Given the description of an element on the screen output the (x, y) to click on. 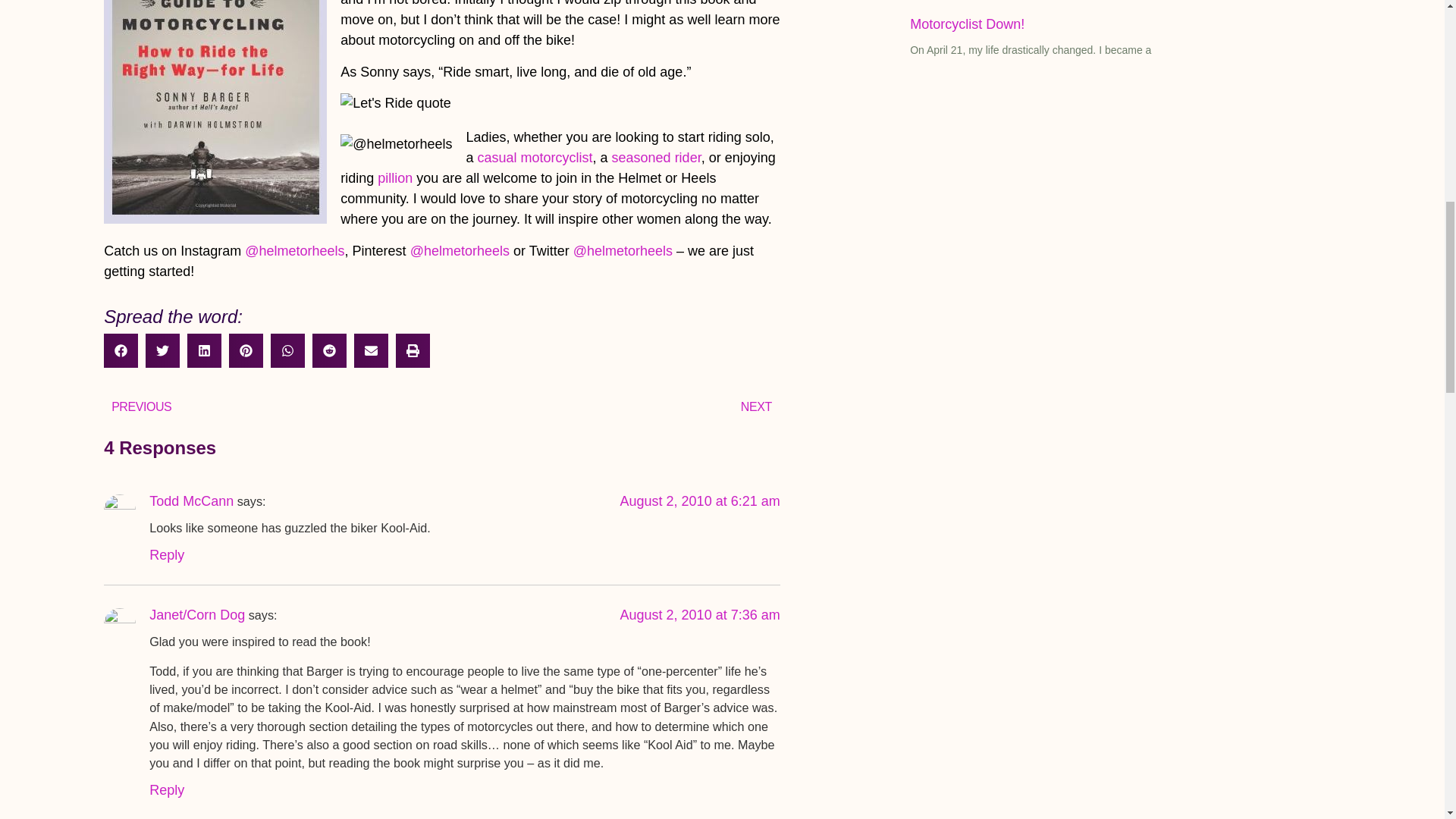
Let's Ride Sonny Barger book (214, 111)
seasoned rider (656, 157)
PREVIOUS (272, 407)
Reply (166, 554)
August 2, 2010 at 6:21 am (700, 500)
Todd McCann (190, 500)
casual motorcyclist (534, 157)
pillion (394, 177)
Let's Ride quote (395, 103)
NEXT (609, 407)
